Given the description of an element on the screen output the (x, y) to click on. 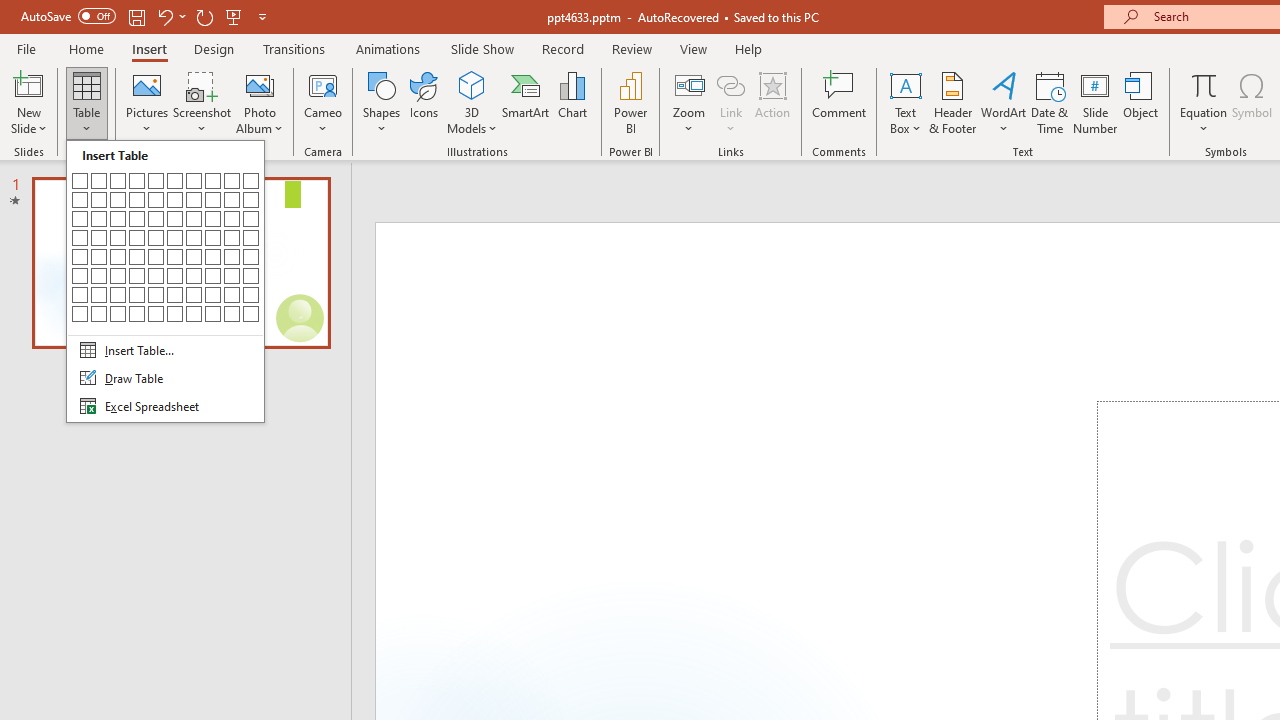
Table (165, 281)
Object... (1141, 102)
